Given the description of an element on the screen output the (x, y) to click on. 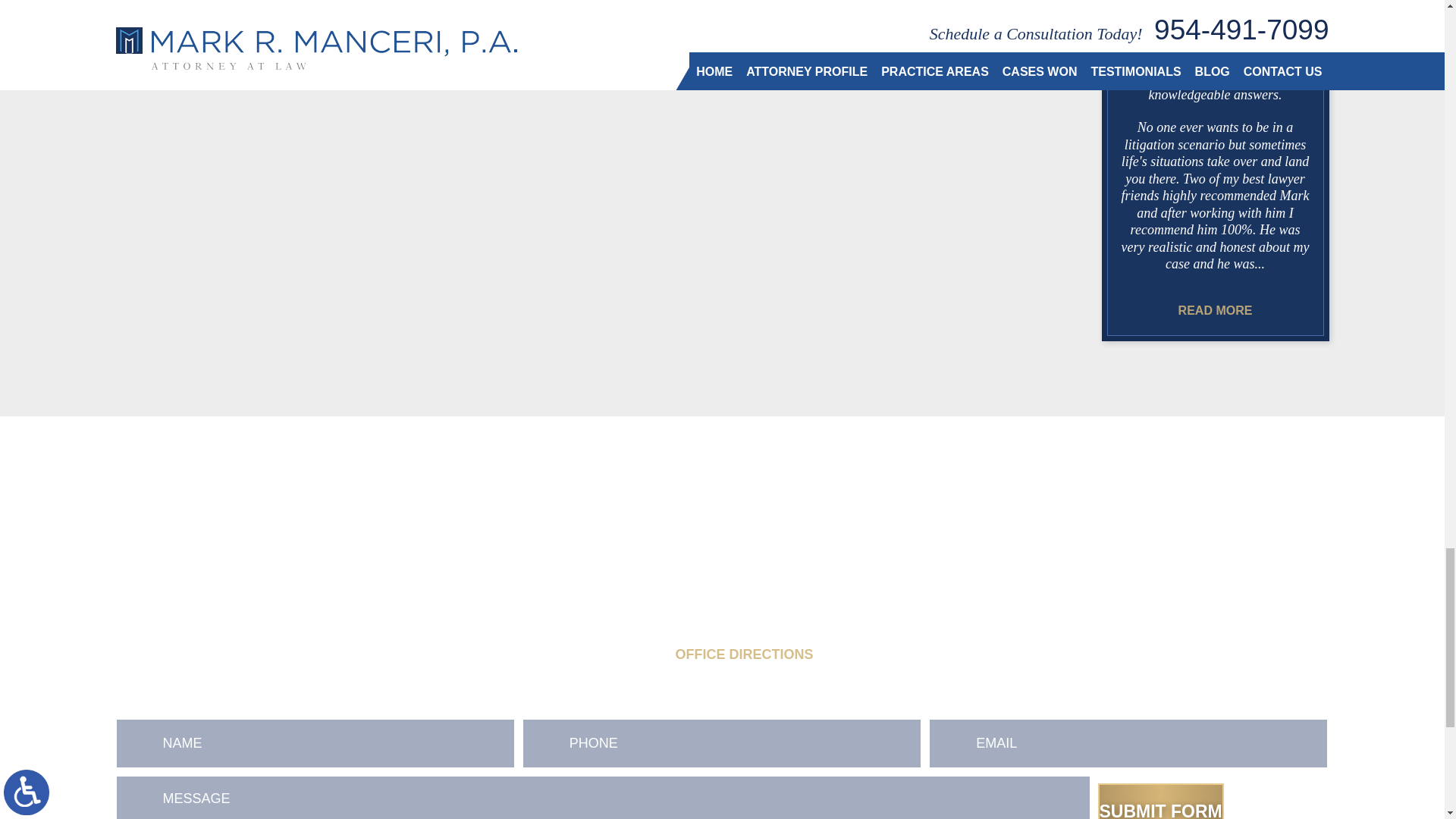
Submit Form (1160, 800)
